Given the description of an element on the screen output the (x, y) to click on. 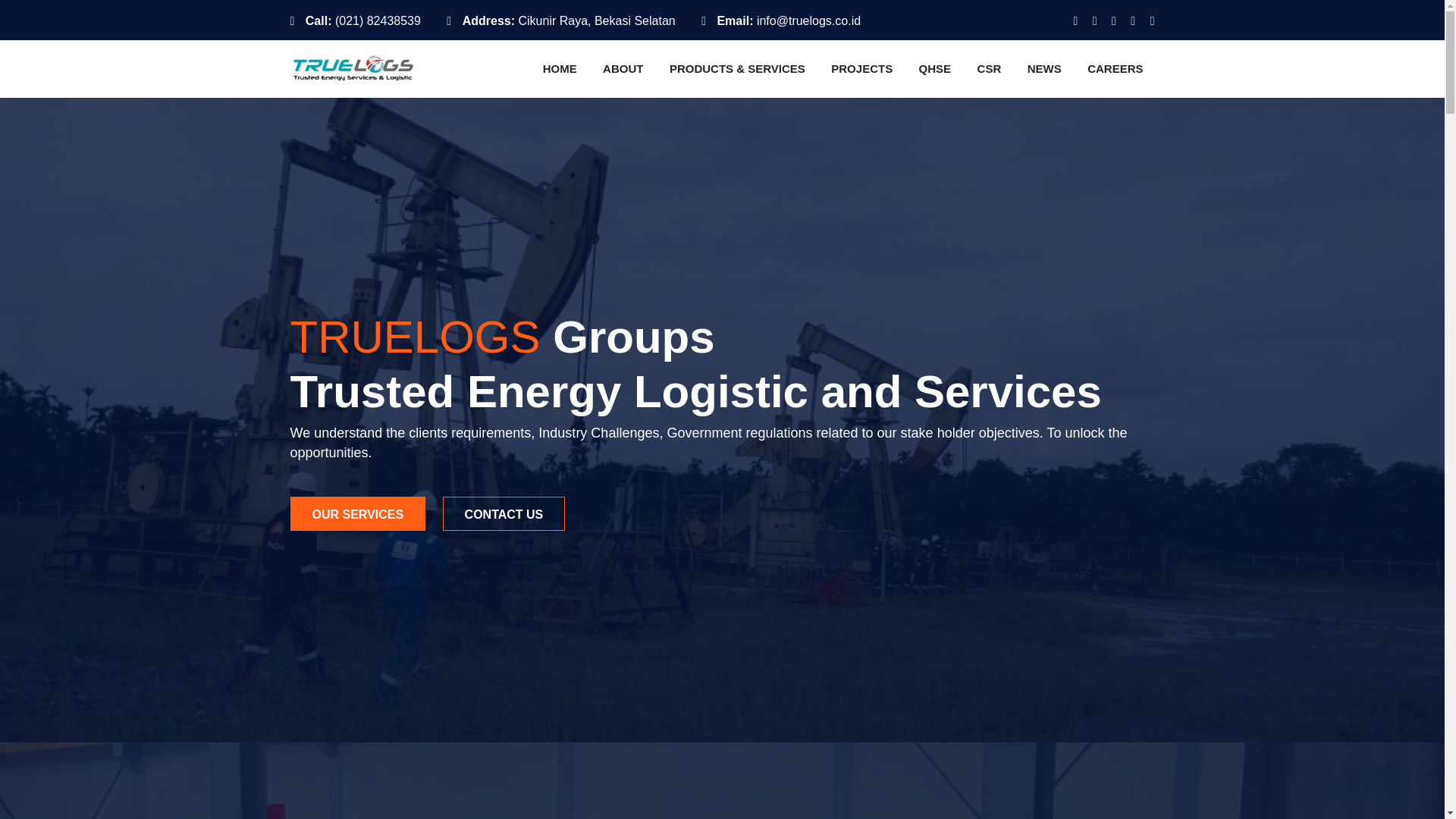
QHSE (934, 68)
NEWS (1044, 68)
About (622, 68)
Projects (861, 68)
ABOUT (622, 68)
Home (559, 68)
CAREERS (1114, 68)
PROJECTS (861, 68)
QHSE (934, 68)
CONTACT US (504, 512)
